Given the description of an element on the screen output the (x, y) to click on. 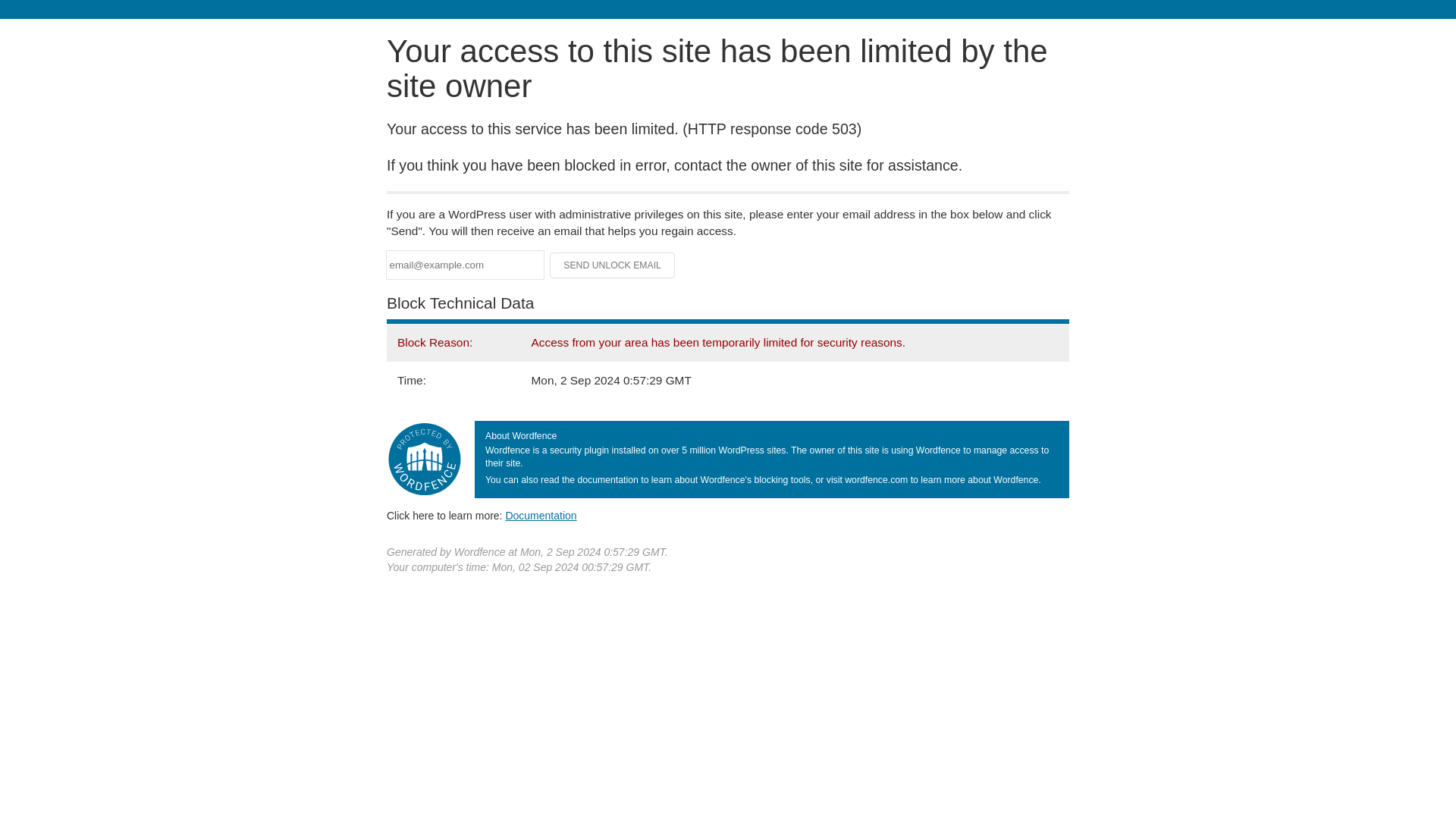
Send Unlock Email (612, 265)
Send Unlock Email (612, 265)
Documentation (540, 515)
